Given the description of an element on the screen output the (x, y) to click on. 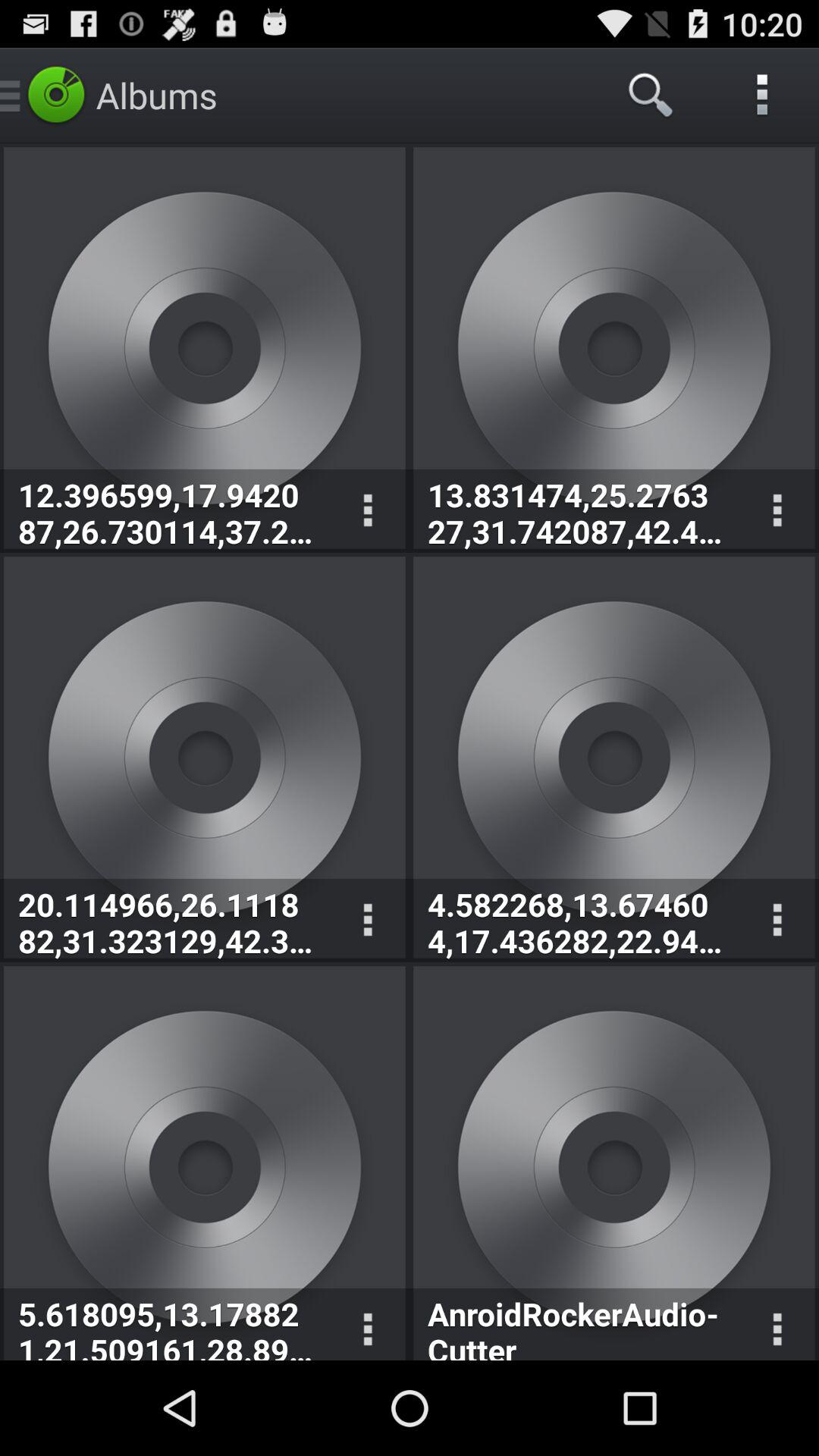
album options (367, 510)
